Given the description of an element on the screen output the (x, y) to click on. 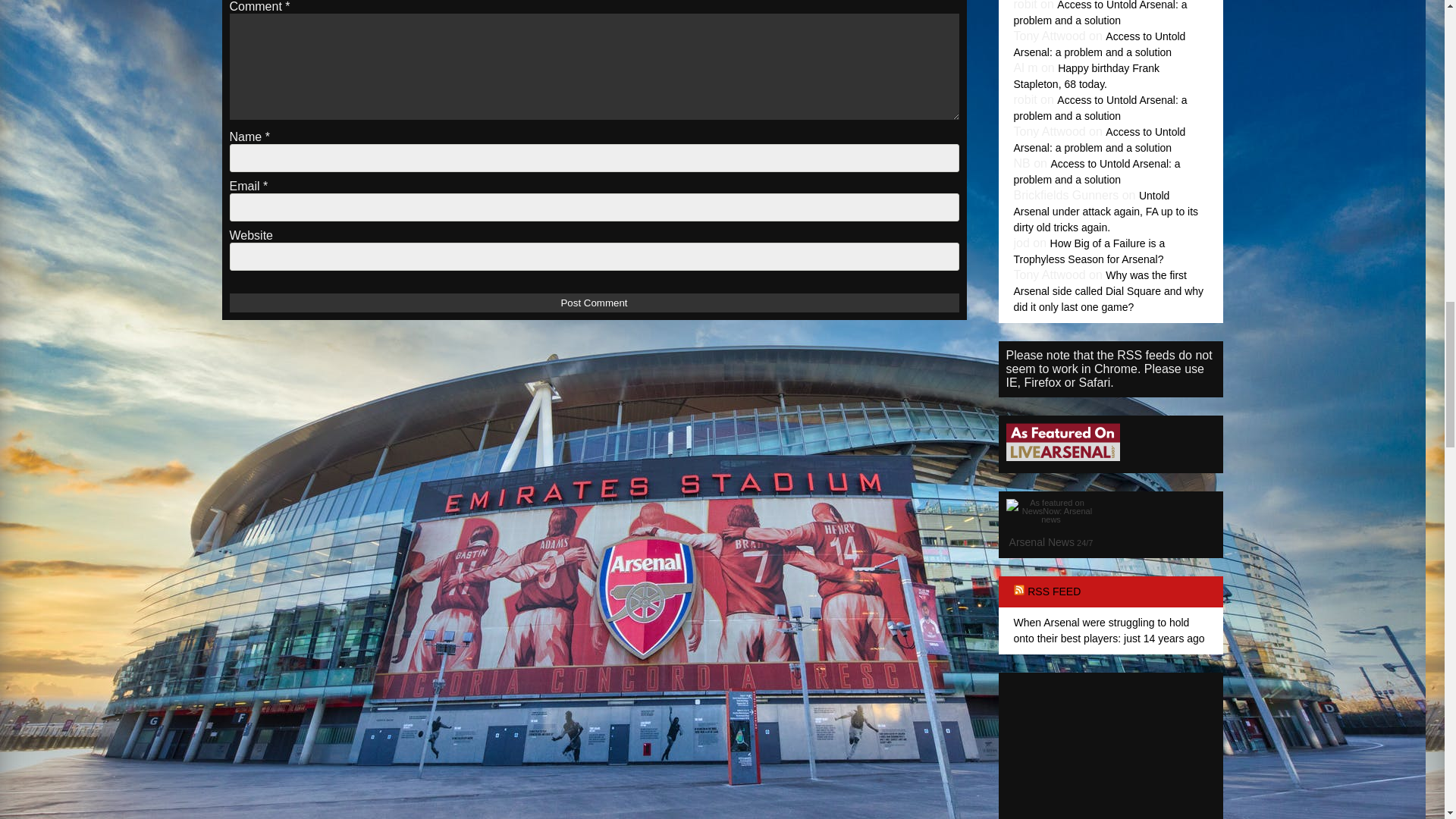
Post Comment (593, 302)
Post Comment (593, 302)
